Given the description of an element on the screen output the (x, y) to click on. 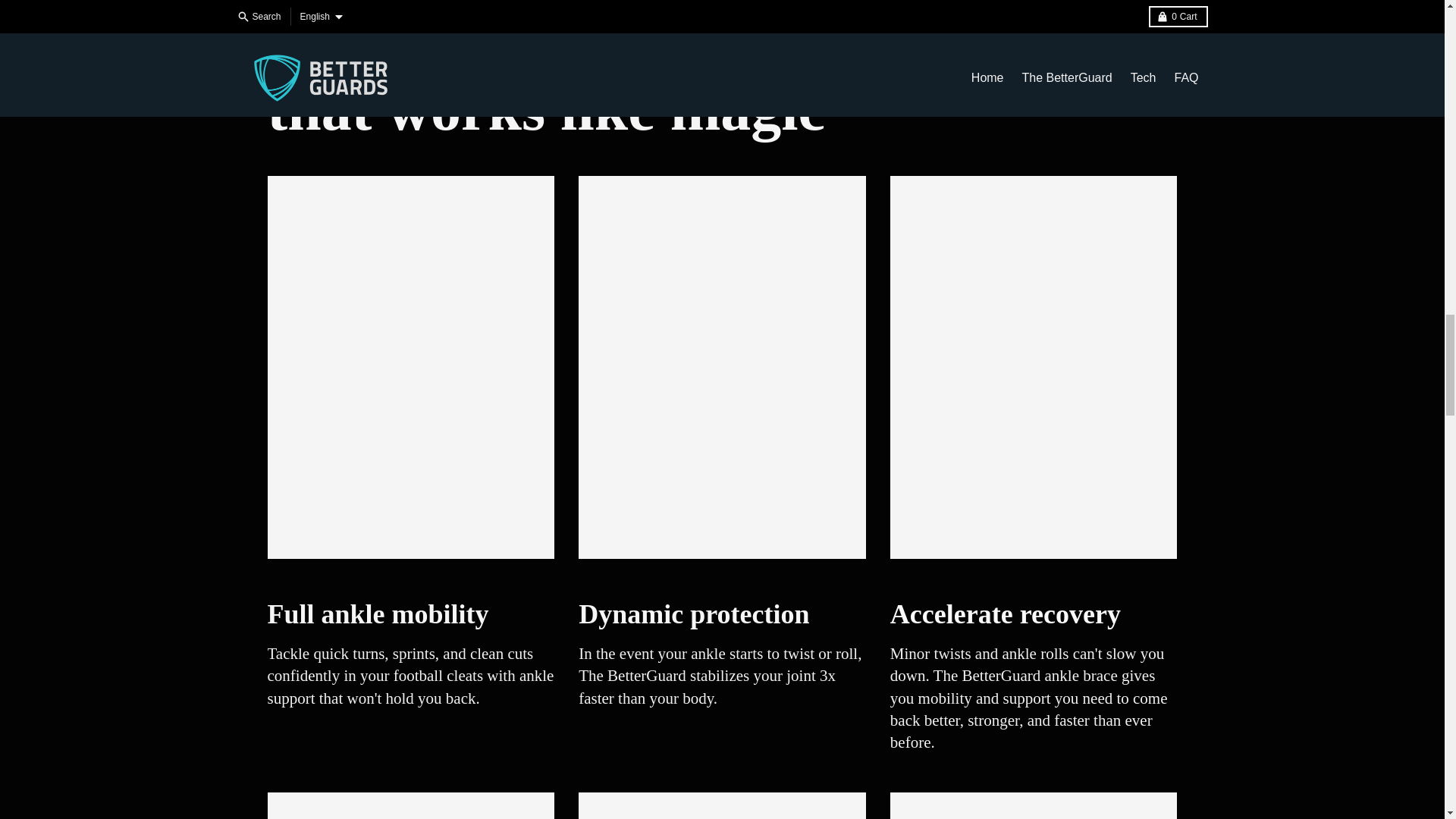
Image Title (1033, 805)
Image Title (410, 805)
Image Title (722, 805)
